Given the description of an element on the screen output the (x, y) to click on. 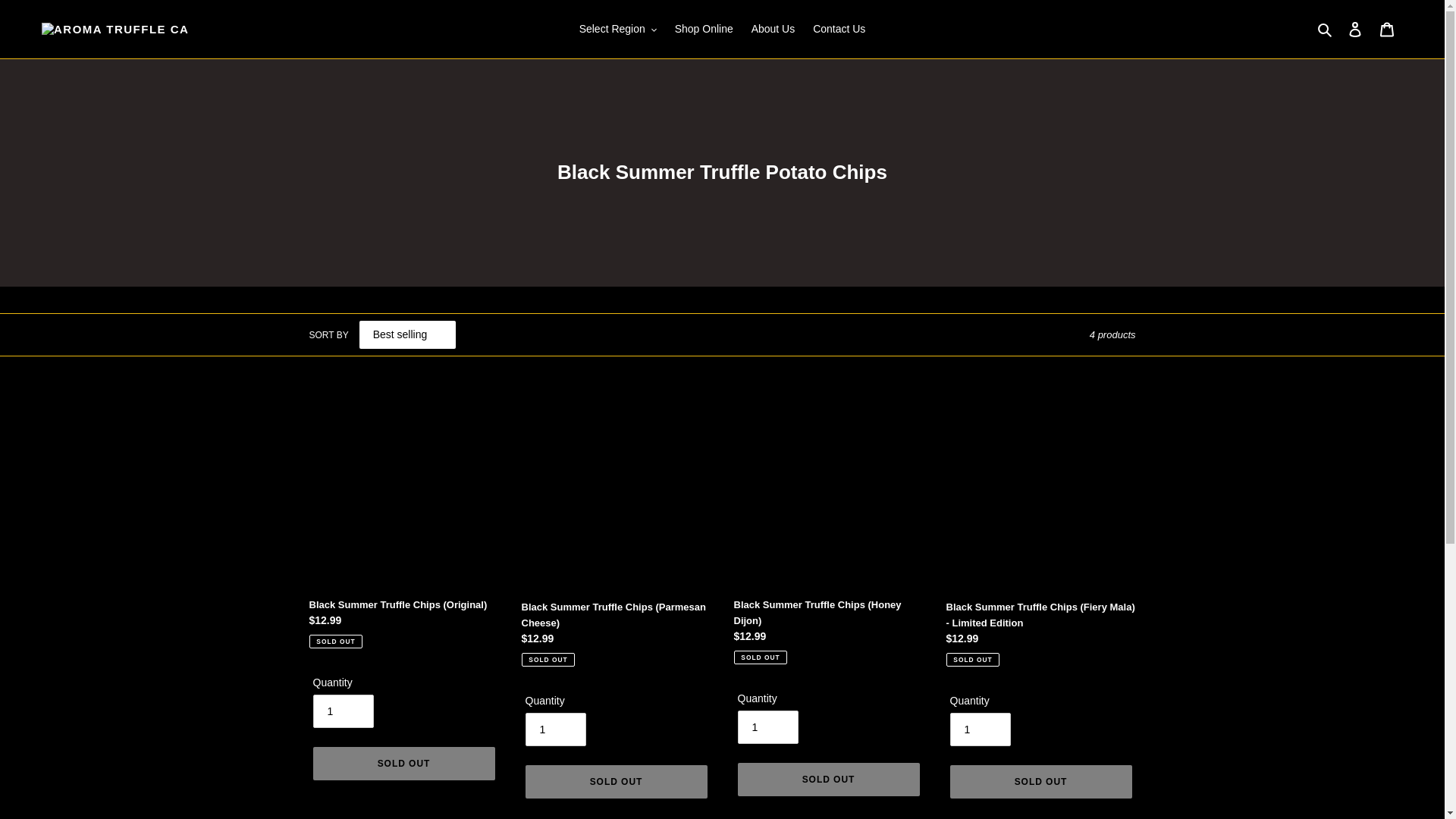
Log in Element type: text (1355, 28)
SOLD OUT Element type: text (403, 763)
SOLD OUT Element type: text (828, 779)
Shop Online Element type: text (703, 28)
Cart Element type: text (1386, 28)
Black Summer Truffle Chips (Fiery Mala) - Limited Edition Element type: text (1040, 532)
SOLD OUT Element type: text (1040, 781)
Search Element type: text (1325, 28)
Contact Us Element type: text (838, 28)
Black Summer Truffle Chips (Original) Element type: text (403, 523)
Select Region Element type: text (617, 28)
Black Summer Truffle Chips (Honey Dijon) Element type: text (828, 531)
SOLD OUT Element type: text (615, 781)
Black Summer Truffle Chips (Parmesan Cheese) Element type: text (616, 532)
About Us Element type: text (773, 28)
